Given the description of an element on the screen output the (x, y) to click on. 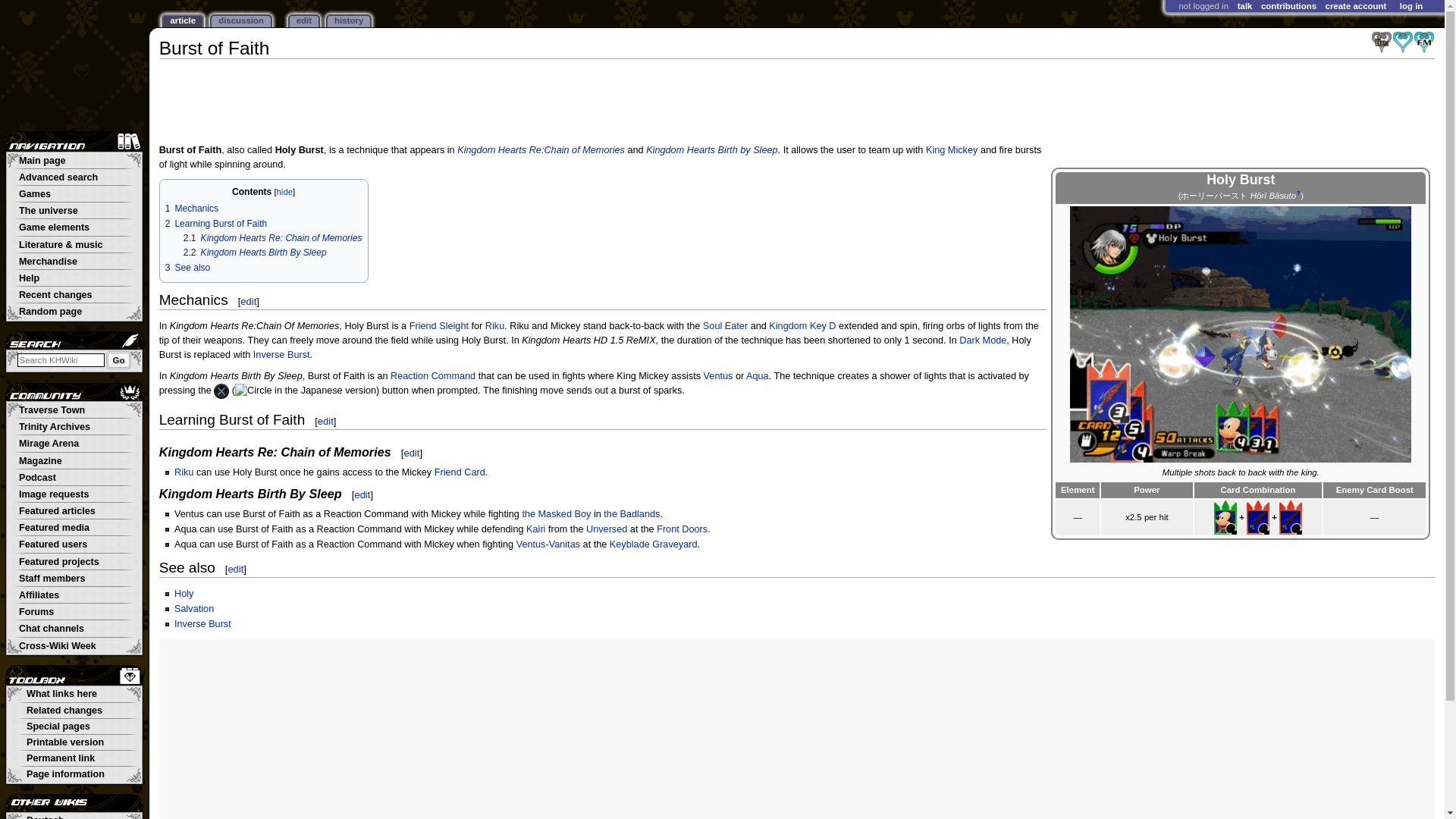
King Mickey (951, 149)
1 Mechanics (191, 208)
edit (325, 420)
Kingdom Key D (801, 326)
Kingdom Hearts Birth by Sleep (1402, 41)
Kingdom Hearts Re:Chain of Memories (540, 149)
Soul Eater (725, 326)
Friend Card (458, 471)
2.2 Kingdom Hearts Birth By Sleep (254, 252)
Kingdom Hearts Birth by Sleep Final Mix (1423, 41)
